Given the description of an element on the screen output the (x, y) to click on. 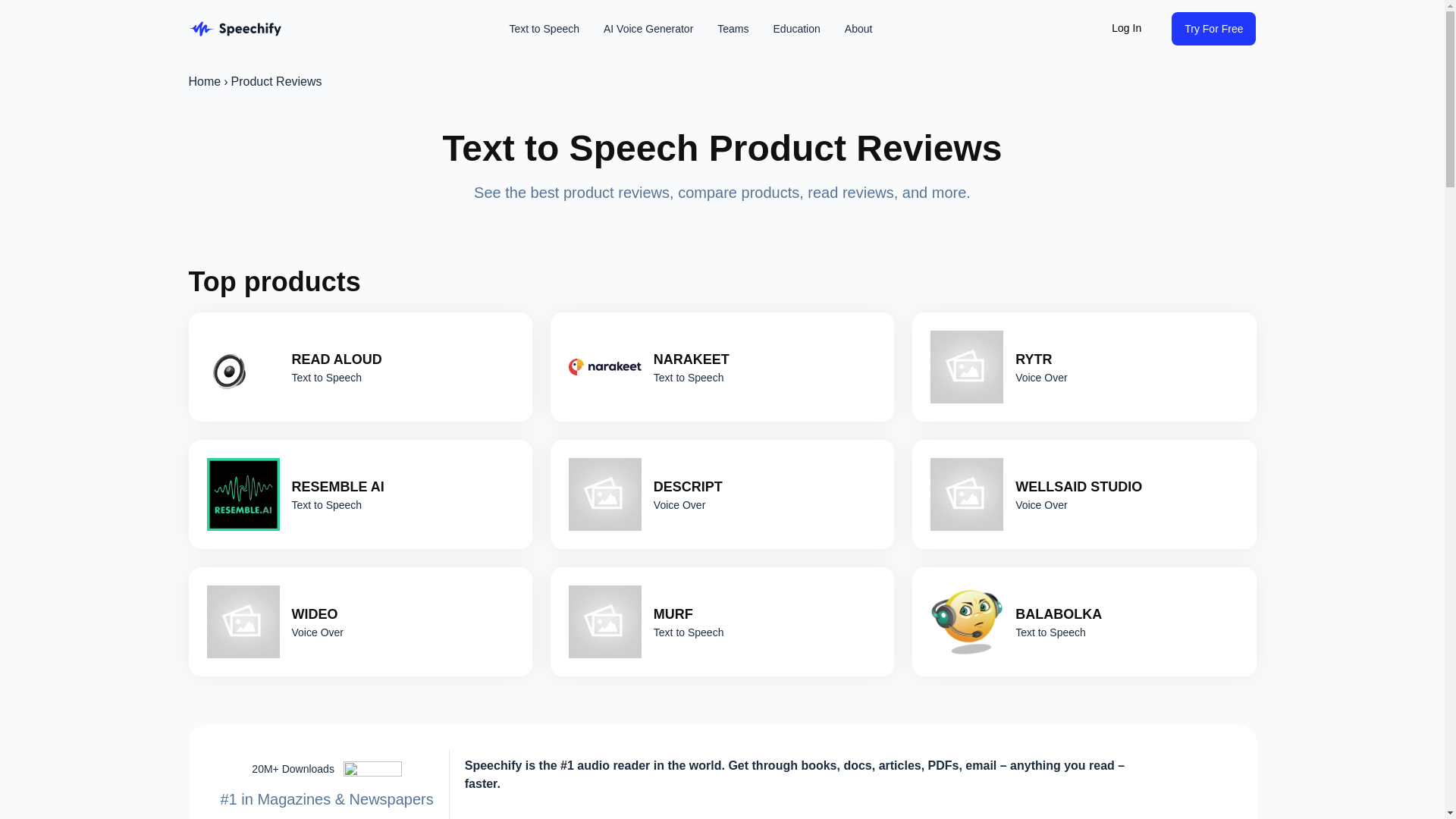
Text to Speech (543, 28)
Try For Free (1213, 28)
AI Voice Generator (647, 28)
Log In (1126, 28)
Home (204, 81)
Teams (732, 28)
Education (796, 28)
About (858, 28)
